Given the description of an element on the screen output the (x, y) to click on. 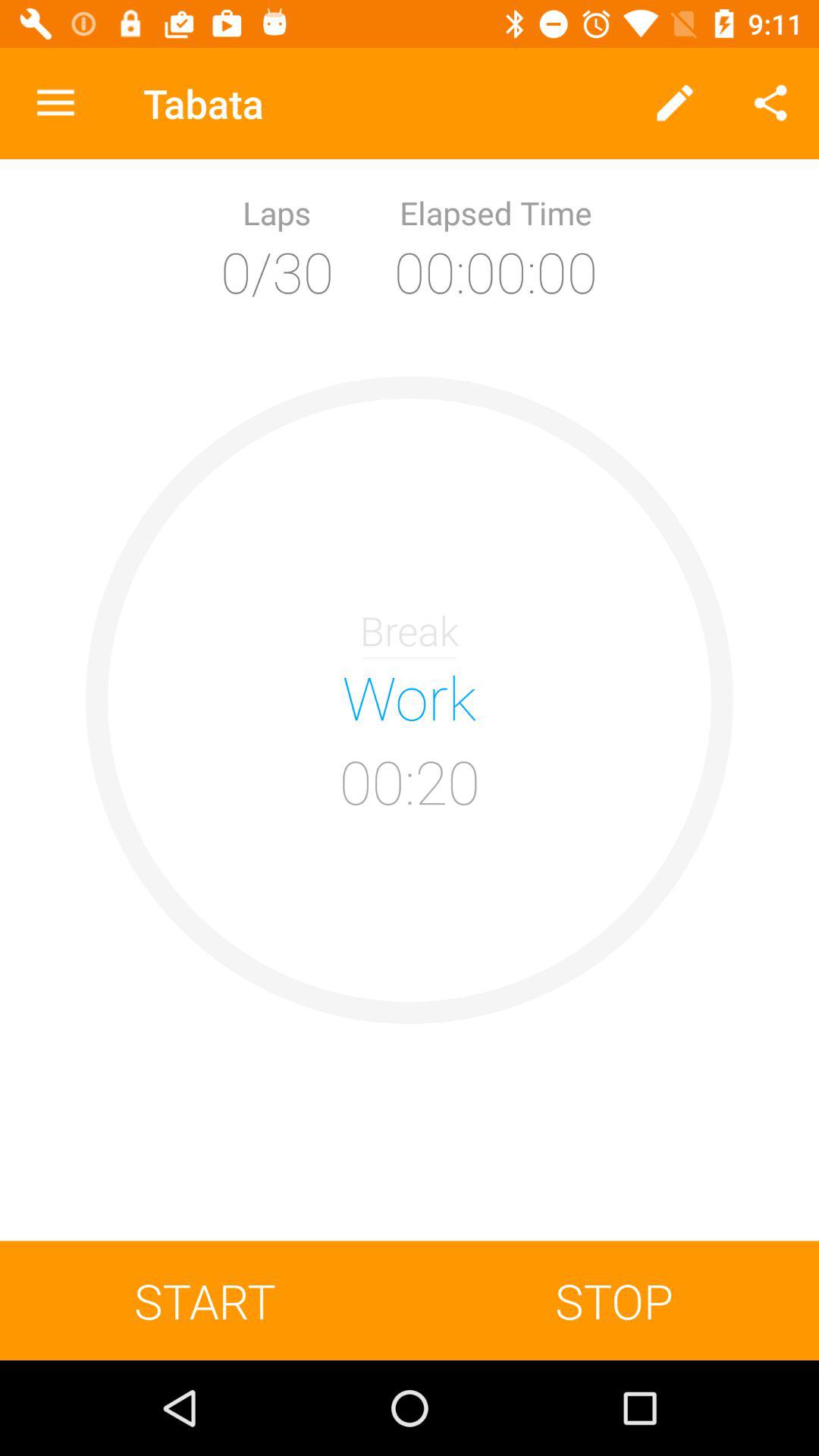
open the stop icon (614, 1300)
